Given the description of an element on the screen output the (x, y) to click on. 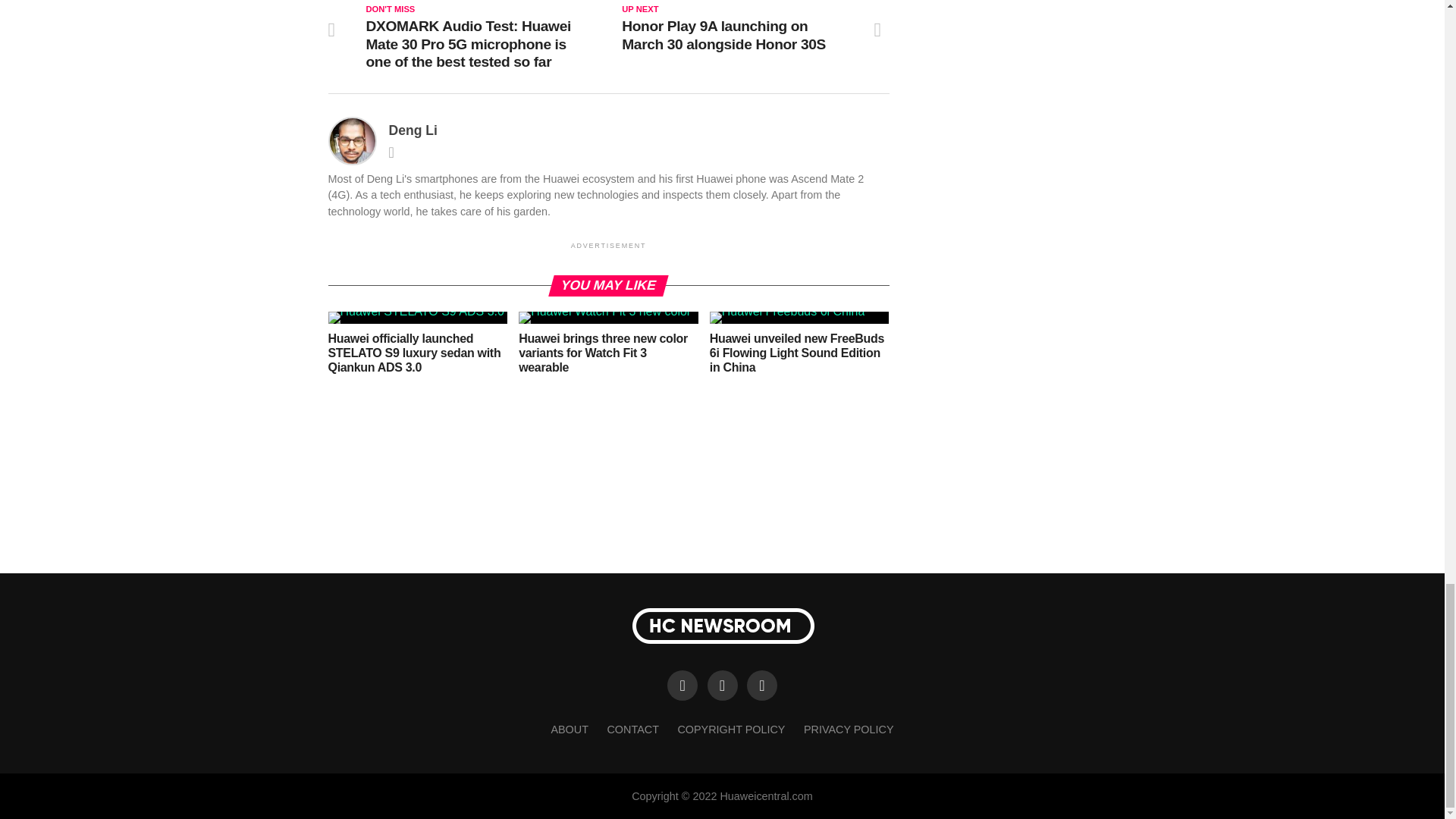
Posts by Deng Li (413, 130)
